Given the description of an element on the screen output the (x, y) to click on. 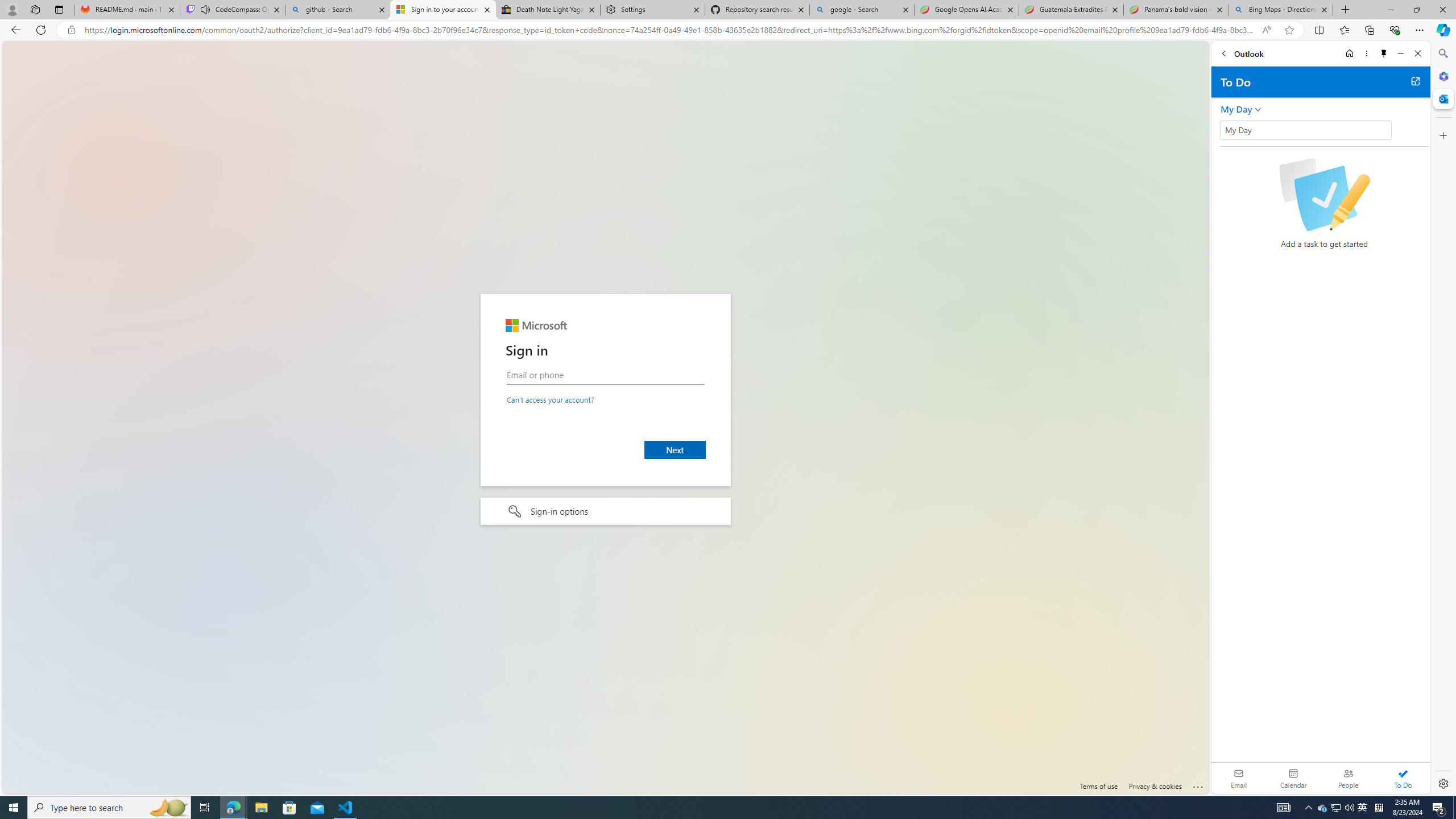
To Do (1402, 777)
